Given the description of an element on the screen output the (x, y) to click on. 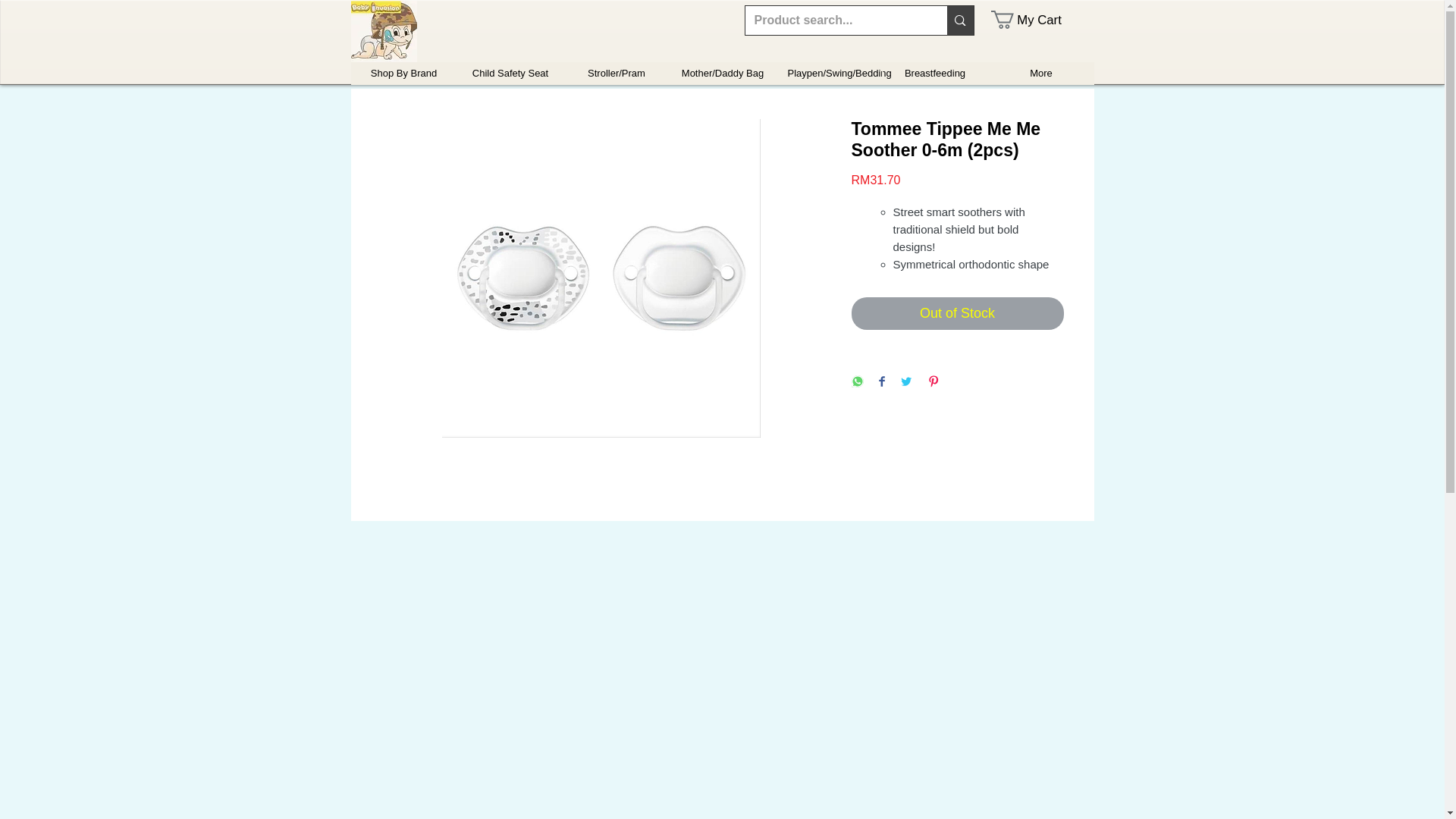
My Cart (1036, 19)
Breastfeeding (933, 73)
My Cart (1036, 19)
Child Safety Seat (509, 73)
Shop By Brand (403, 73)
Out of Stock (956, 313)
